Given the description of an element on the screen output the (x, y) to click on. 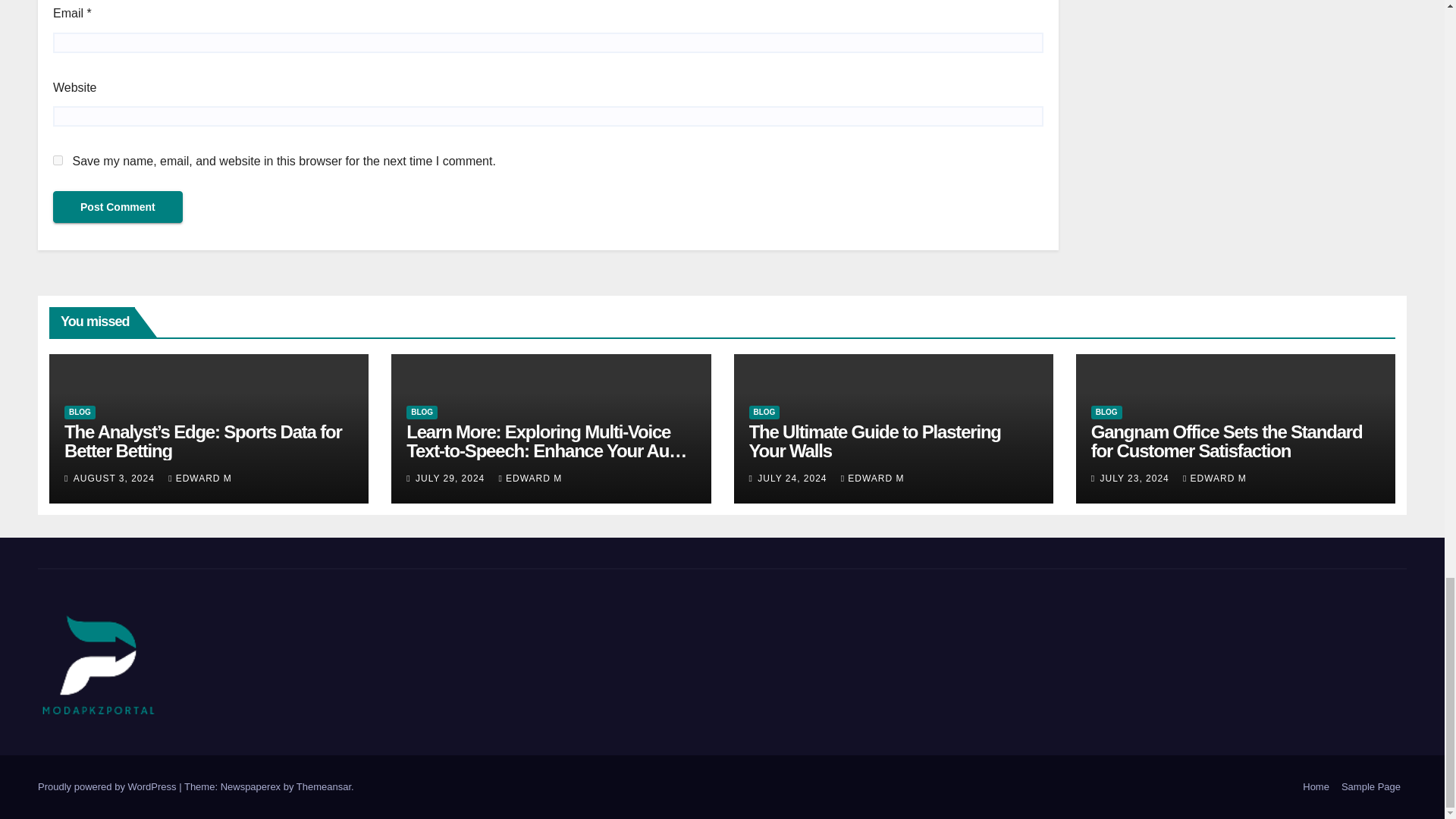
Home (1316, 786)
yes (57, 160)
Post Comment (117, 206)
Permalink to: The Ultimate Guide to Plastering Your Walls (875, 441)
